Given the description of an element on the screen output the (x, y) to click on. 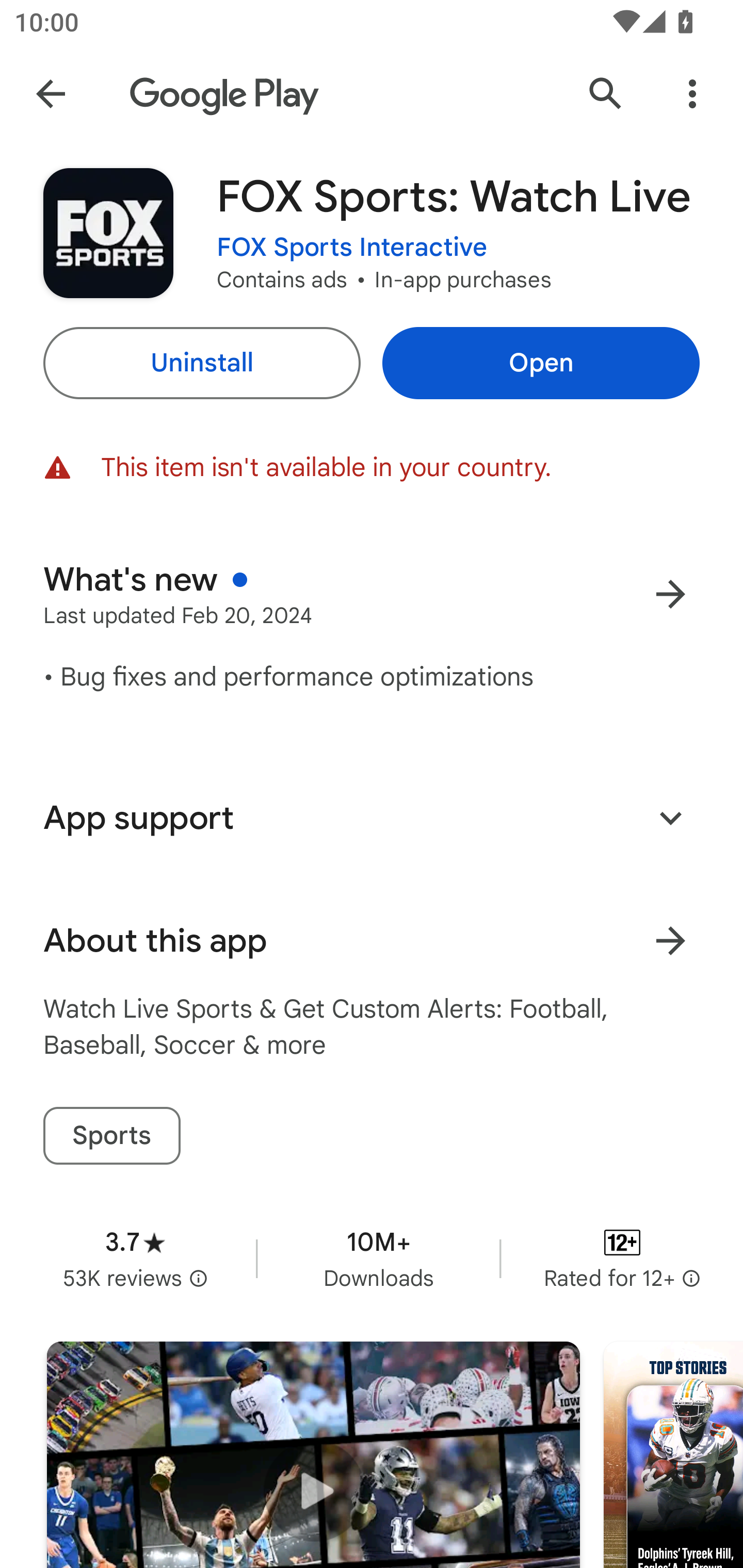
Navigate up (50, 93)
Search Google Play (605, 93)
More Options (692, 93)
FOX Sports Interactive (351, 247)
Uninstall (201, 362)
Open (540, 362)
More results for What's new (670, 594)
App support Expand (371, 817)
Expand (670, 817)
About this app Learn more About this app (371, 940)
Learn more About this app (670, 940)
Sports tag (111, 1135)
Average rating 3.7 stars in 53 thousand reviews (135, 1258)
Content rating Rated for 12+ (622, 1258)
Play trailer for "FOX Sports: Watch Live" (313, 1455)
